Given the description of an element on the screen output the (x, y) to click on. 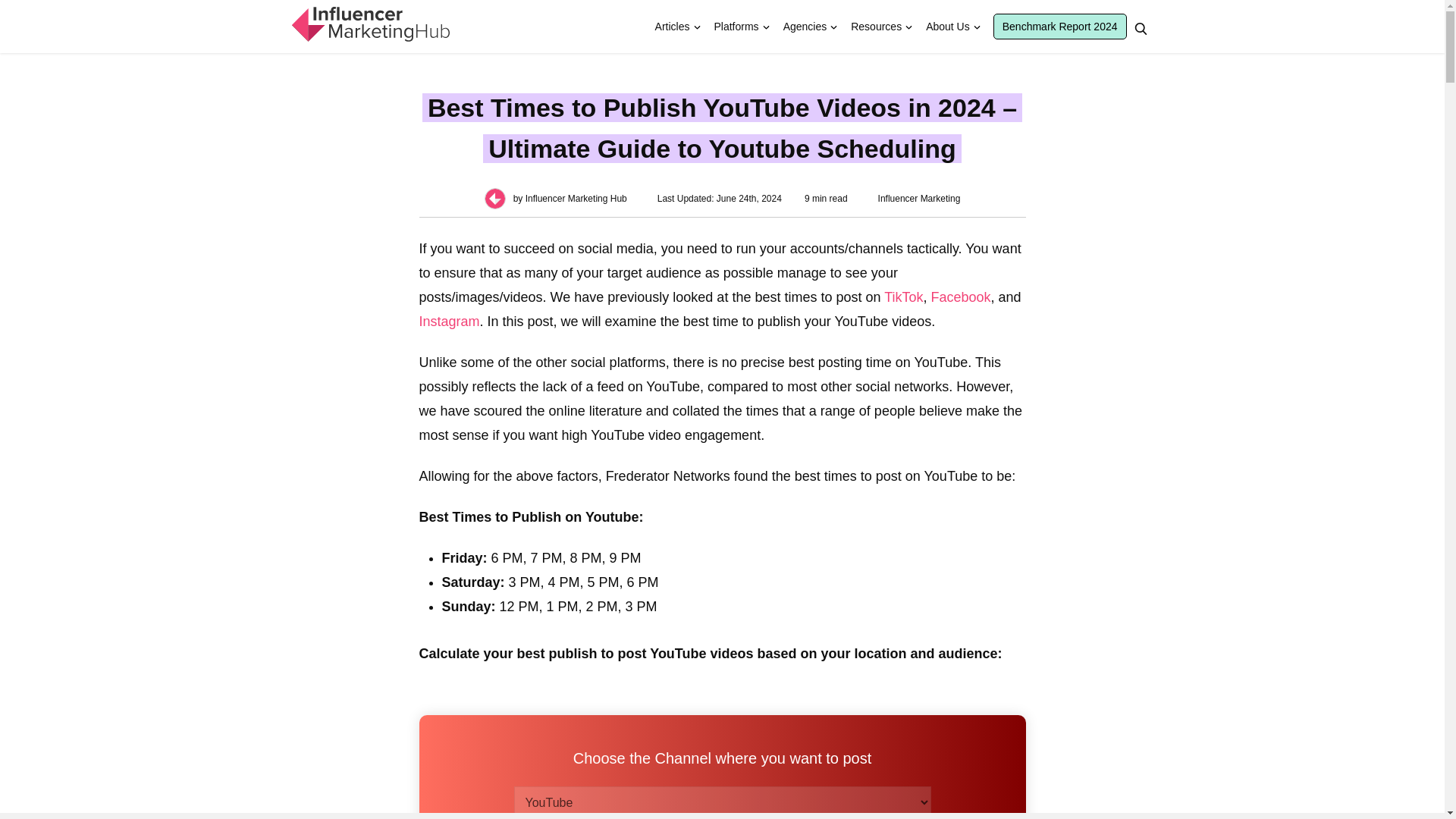
Resources (876, 26)
Articles (672, 26)
Influencer Marketing Hub (368, 24)
Platforms (736, 26)
Agencies (805, 26)
